Given the description of an element on the screen output the (x, y) to click on. 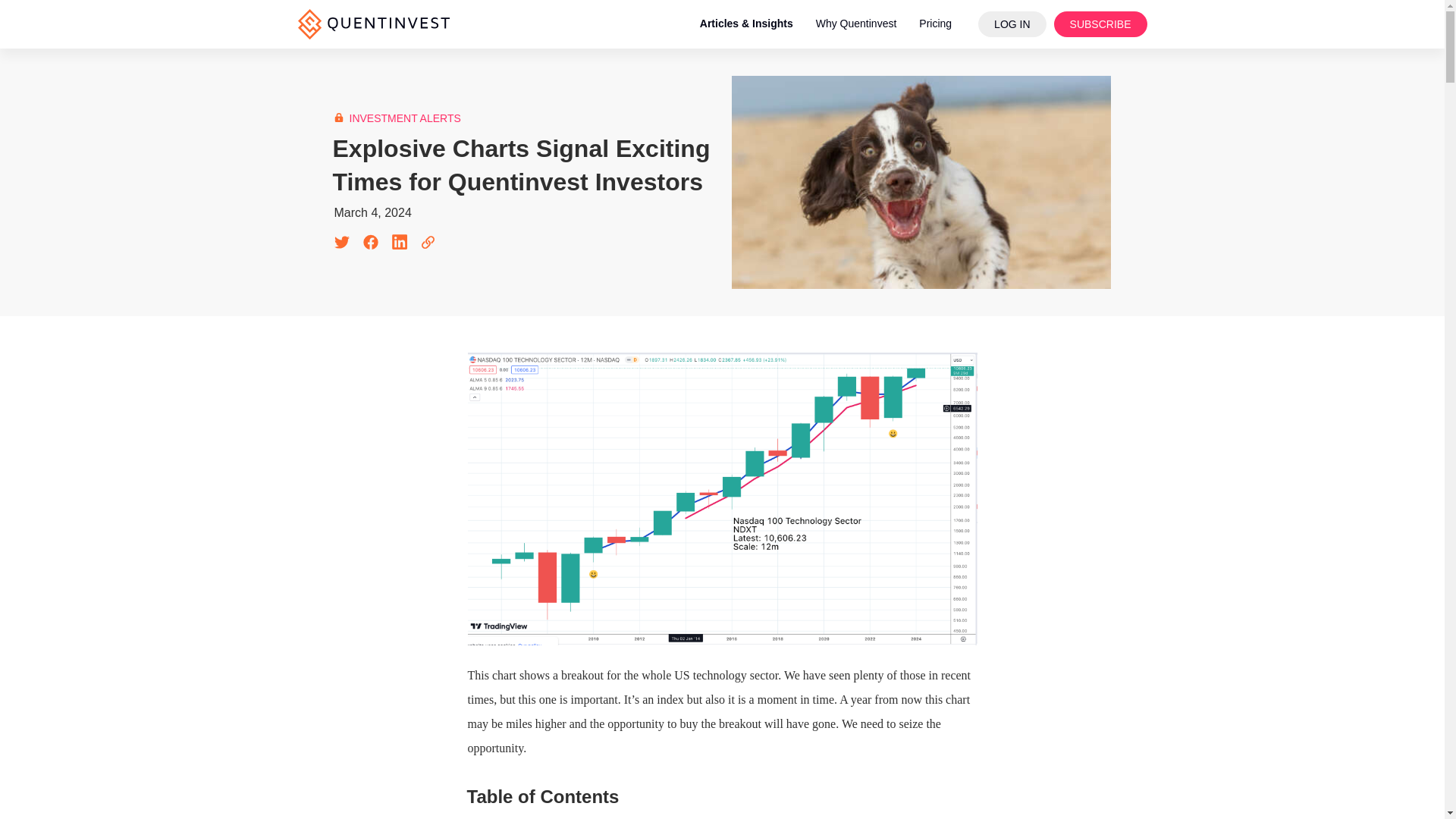
LOG IN (1011, 23)
INVESTMENT ALERTS (404, 117)
Why Quentinvest (856, 23)
SUBSCRIBE (1100, 23)
Pricing (934, 23)
